Given the description of an element on the screen output the (x, y) to click on. 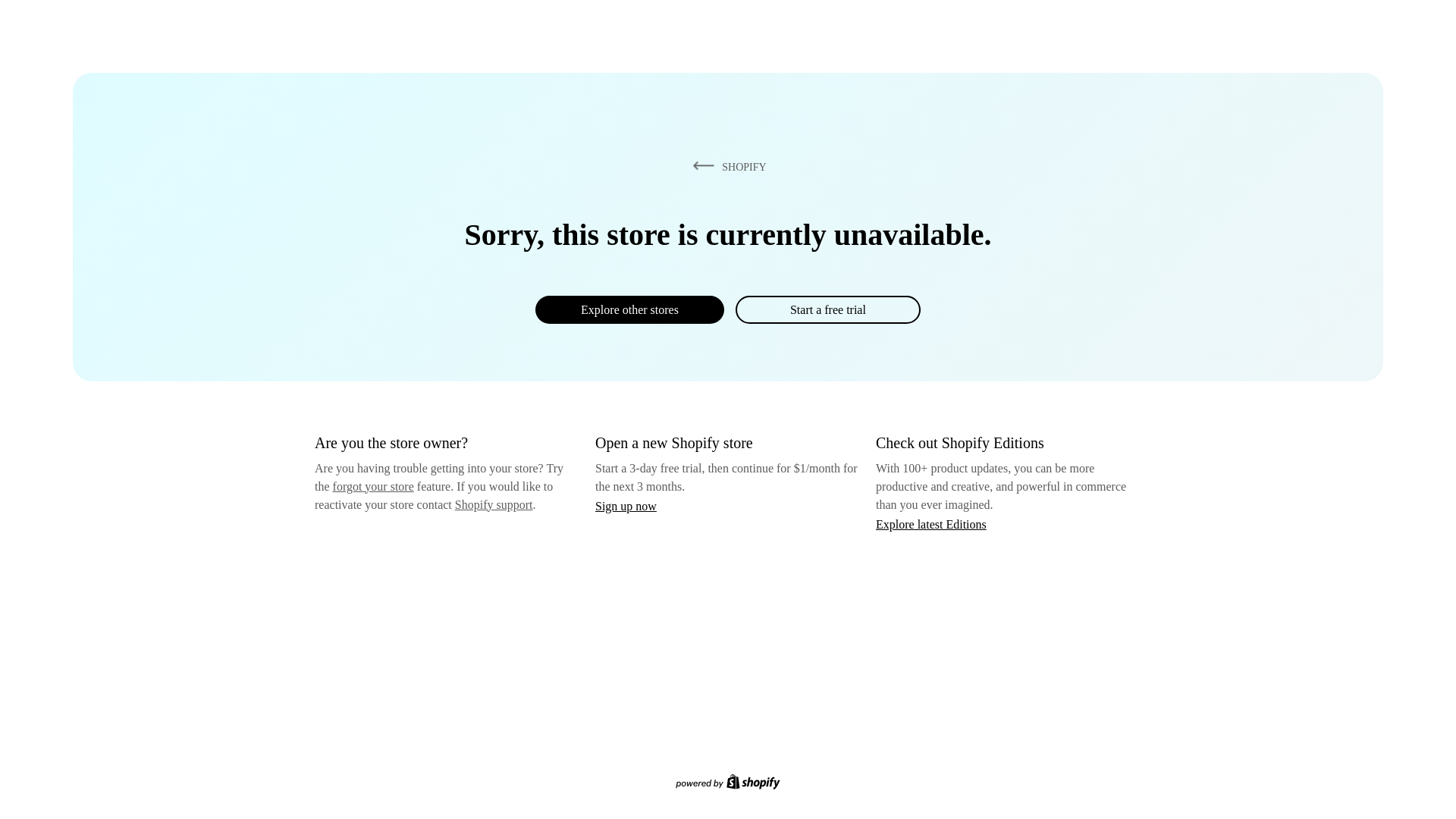
Shopify support (493, 504)
SHOPIFY (726, 166)
Explore latest Editions (931, 523)
forgot your store (373, 486)
Explore other stores (629, 309)
Start a free trial (827, 309)
Sign up now (625, 505)
